Given the description of an element on the screen output the (x, y) to click on. 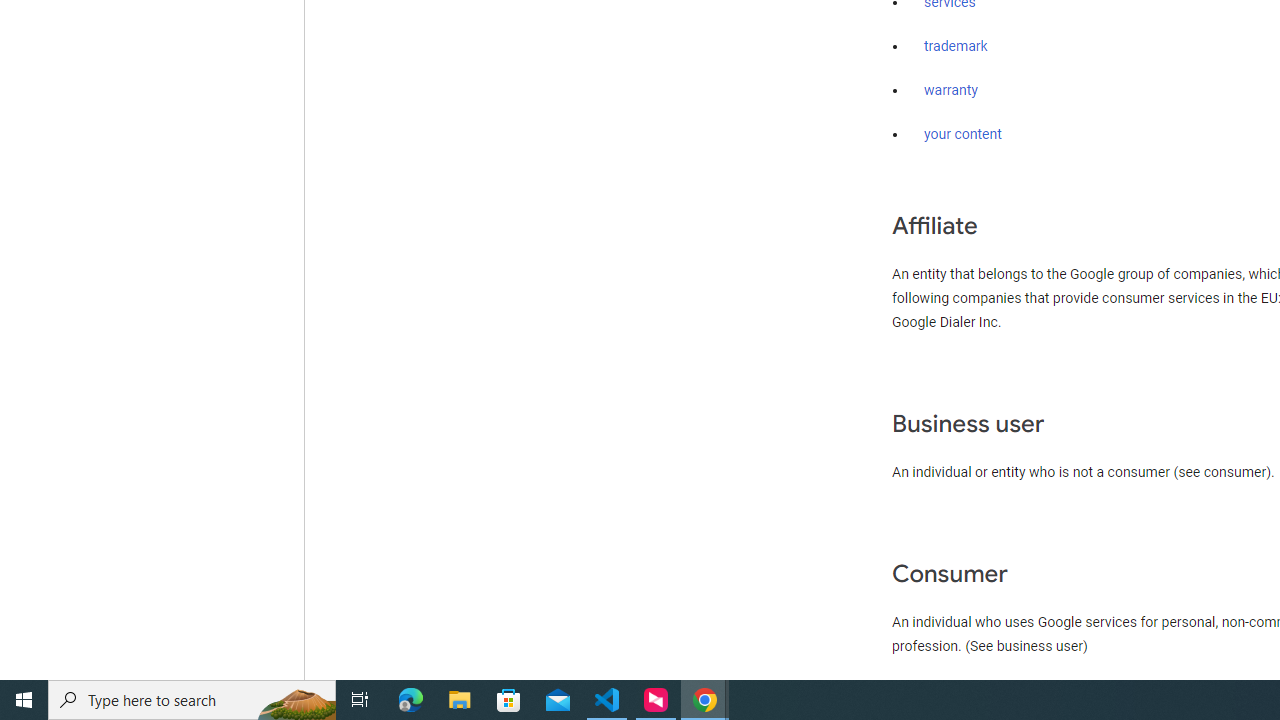
trademark (956, 47)
warranty (950, 91)
your content (963, 134)
